Given the description of an element on the screen output the (x, y) to click on. 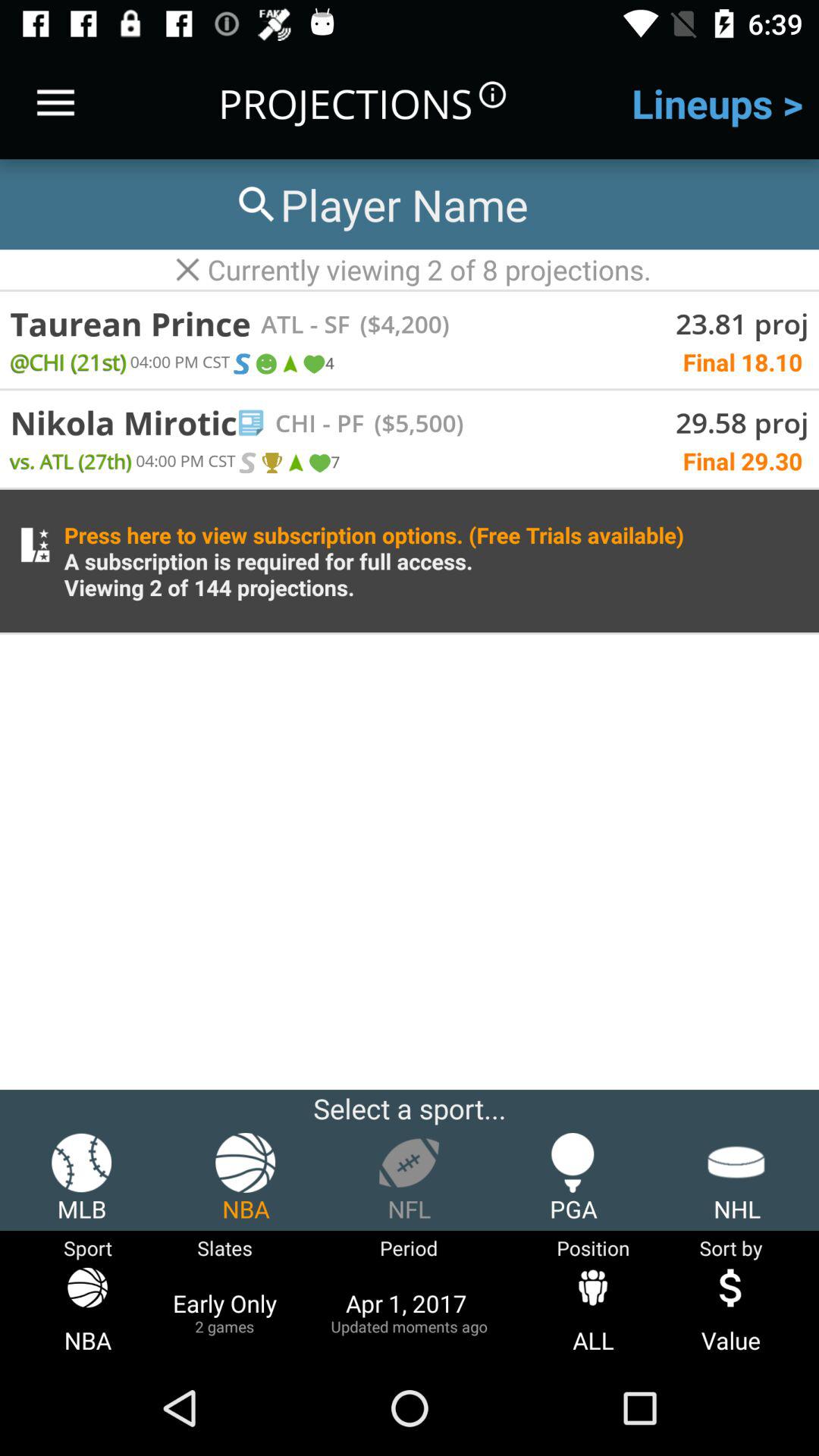
press item next to final 29.30 icon (319, 462)
